Given the description of an element on the screen output the (x, y) to click on. 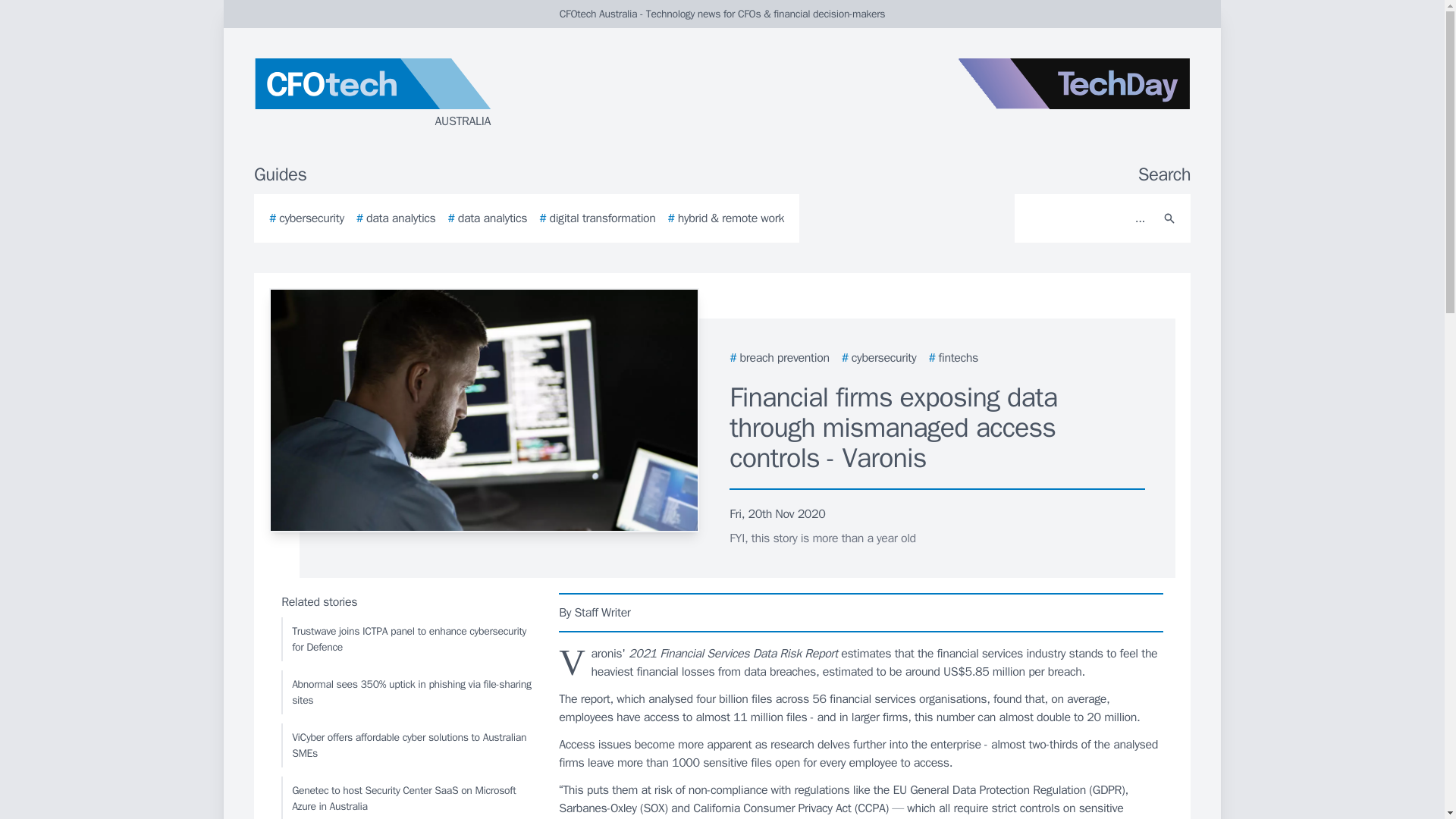
AUSTRALIA (435, 94)
By Staff Writer (861, 612)
ViCyber offers affordable cyber solutions to Australian SMEs (406, 745)
